Given the description of an element on the screen output the (x, y) to click on. 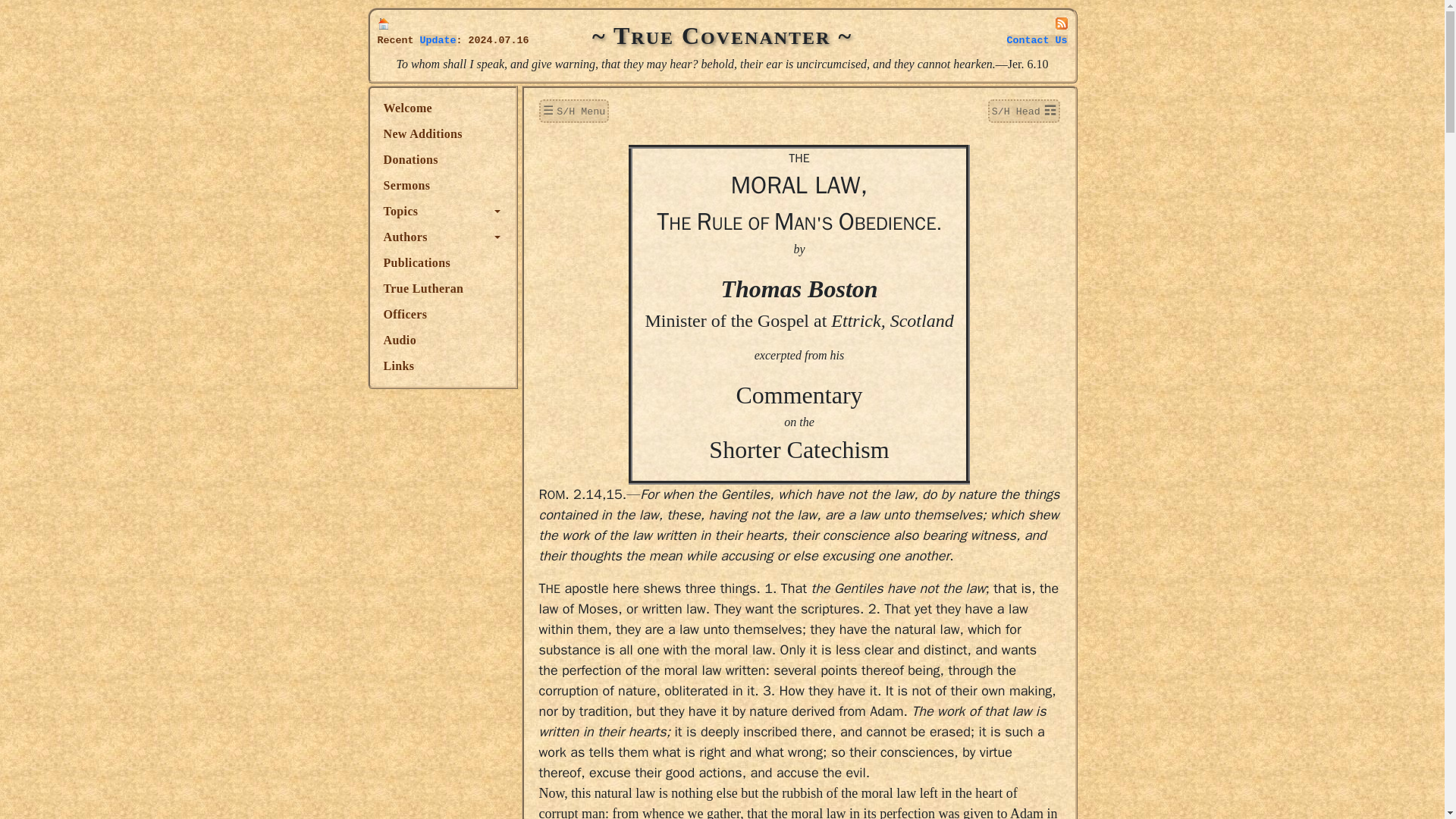
Update (438, 40)
Welcome (442, 108)
Topics (442, 211)
Sermons (442, 185)
New Additions (442, 134)
Donations (442, 159)
Contact Us (1037, 40)
Authors (442, 237)
